Given the description of an element on the screen output the (x, y) to click on. 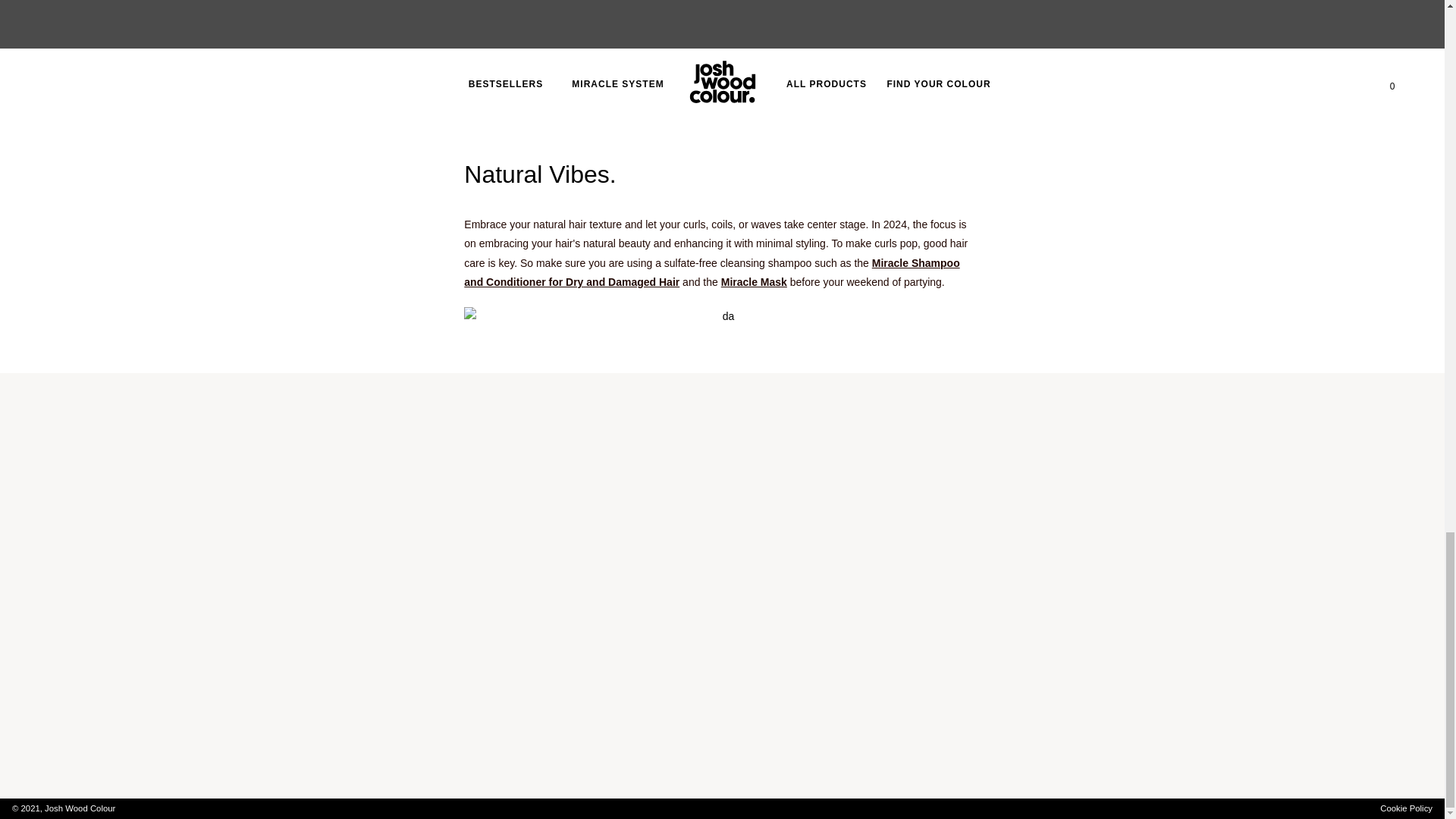
Josh Wood Colour (80, 808)
Miracle Mask (753, 282)
Miracle Shampoo and Conditioner for Dry and Damaged Hair (711, 272)
Cookie Policy (1406, 808)
